Given the description of an element on the screen output the (x, y) to click on. 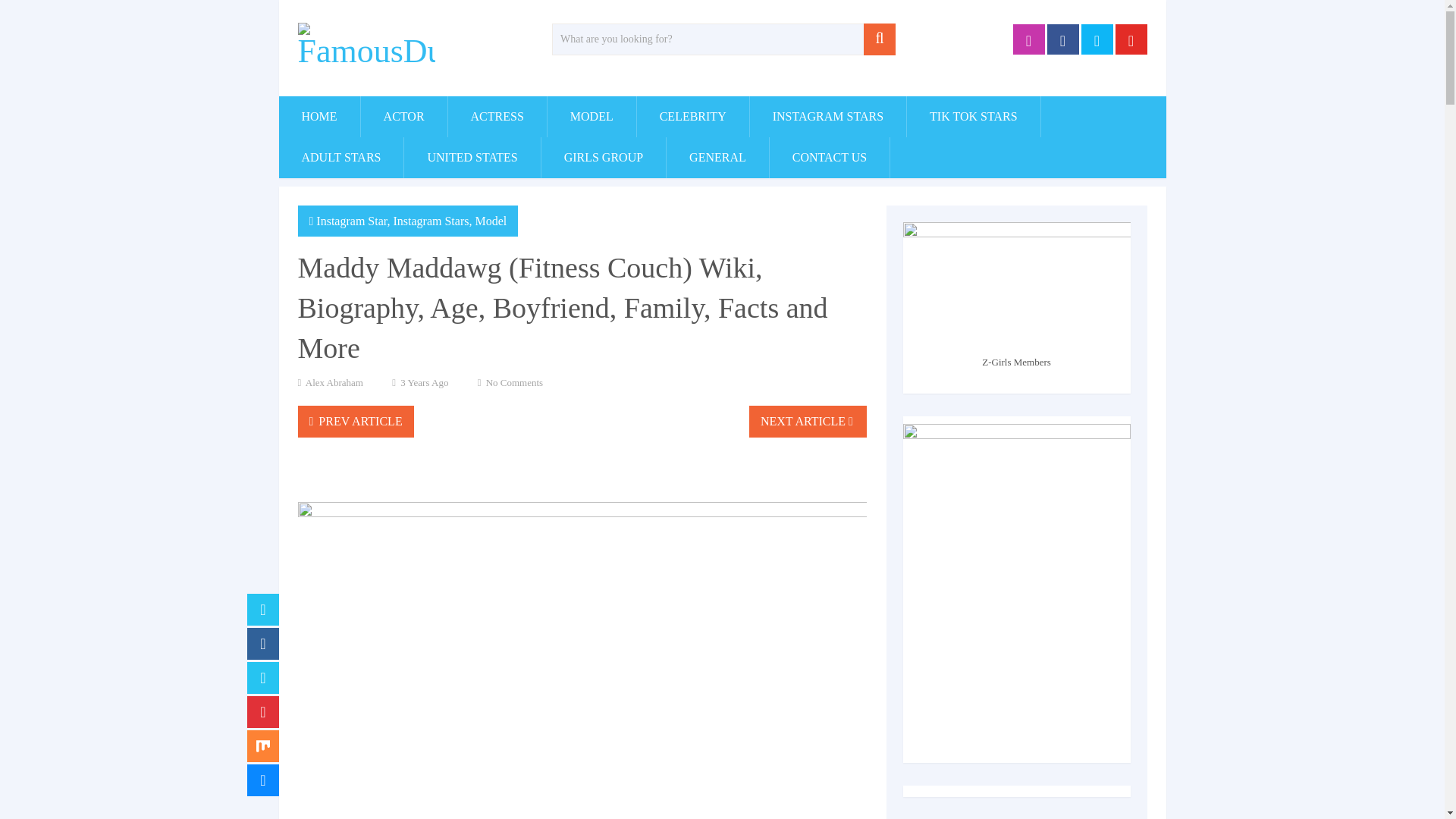
MODEL (591, 116)
GENERAL (717, 157)
TIK TOK STARS (973, 116)
NEXT ARTICLE (807, 421)
No Comments (514, 382)
Alex Abraham (333, 382)
HOME (319, 116)
View all posts in Instagram Stars (430, 220)
PREV ARTICLE (355, 421)
ACTRESS (497, 116)
